Given the description of an element on the screen output the (x, y) to click on. 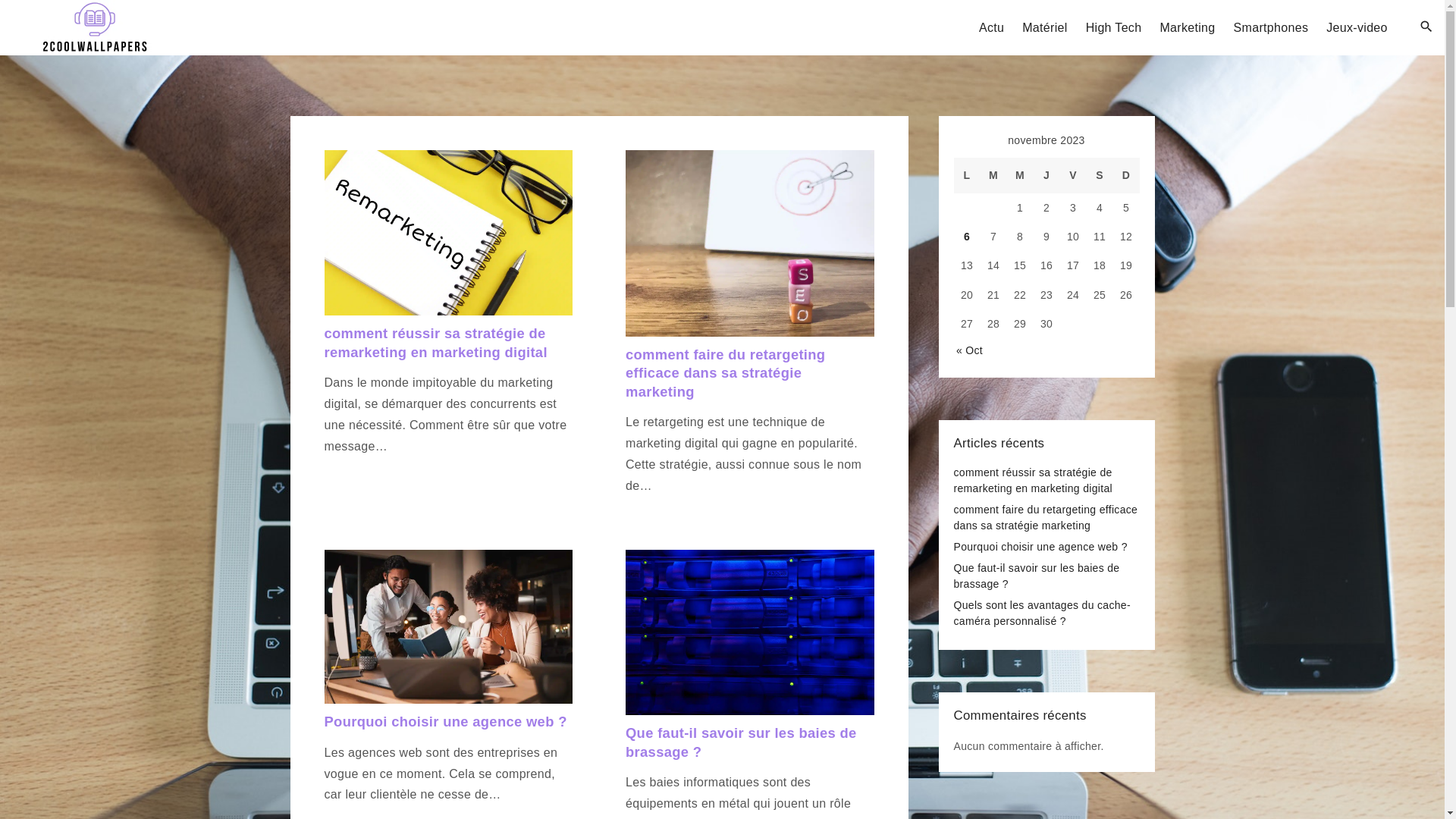
Que faut-il savoir sur les baies de brassage ? Element type: text (740, 741)
6 Element type: text (966, 236)
Marketing Element type: text (1186, 27)
High Tech Element type: text (1113, 27)
Pourquoi choisir une agence web ? Element type: text (445, 721)
Actu Element type: text (991, 27)
Smartphones Element type: text (1270, 27)
Jeux-video Element type: text (1356, 27)
Que faut-il savoir sur les baies de brassage ? Element type: text (1036, 575)
Pourquoi choisir une agence web ? Element type: text (1040, 546)
